Given the description of an element on the screen output the (x, y) to click on. 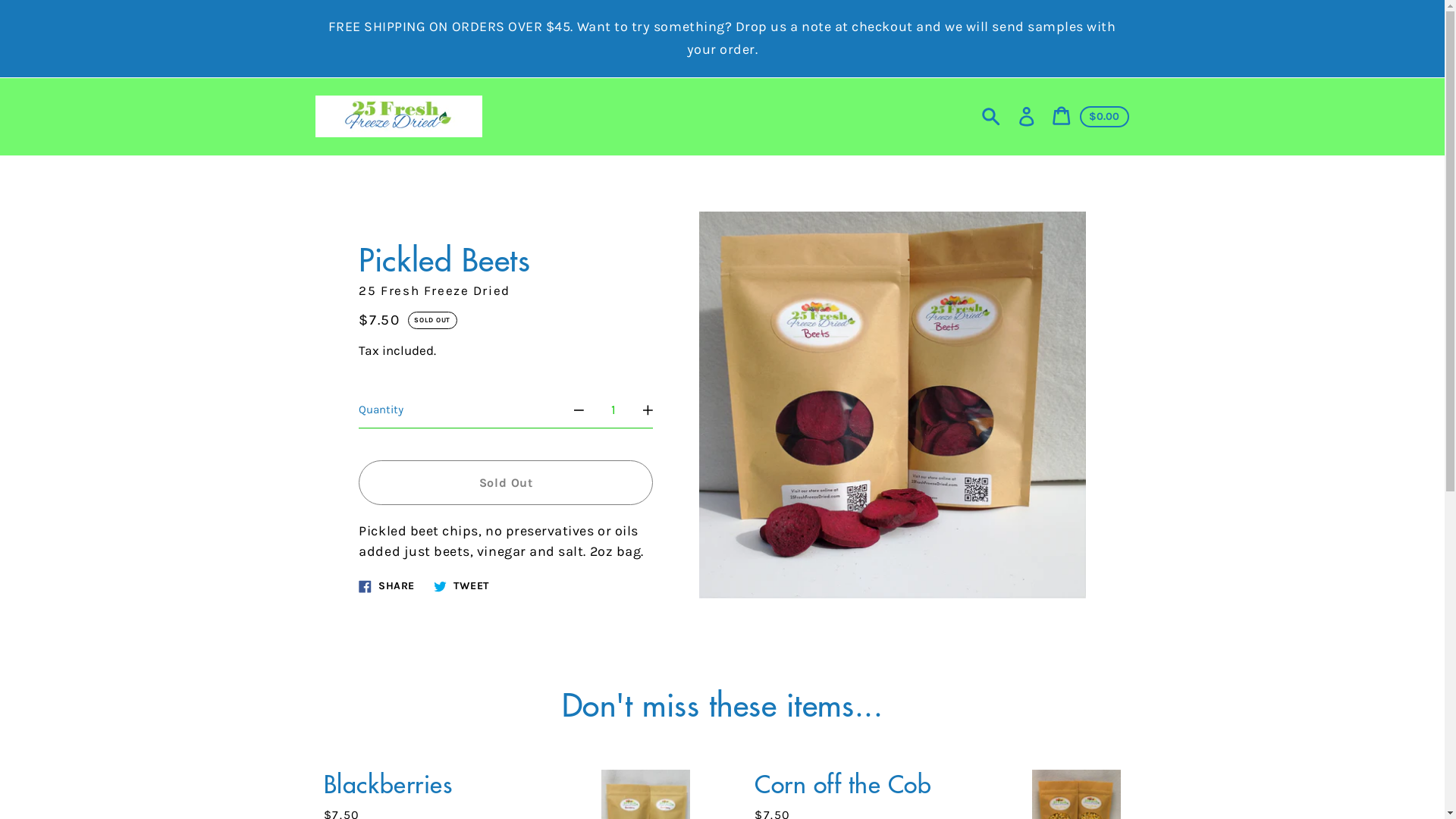
Log in Element type: text (1026, 116)
Cart
Cart price
$0.00 Element type: text (1090, 116)
Blackberries Element type: text (387, 782)
Corn off the Cob Element type: text (842, 782)
Search Element type: text (990, 116)
SHARE
Share on Facebook Element type: text (386, 585)
Sold Out Element type: text (505, 483)
TWEET
Tweet on Twitter Element type: text (461, 585)
